Given the description of an element on the screen output the (x, y) to click on. 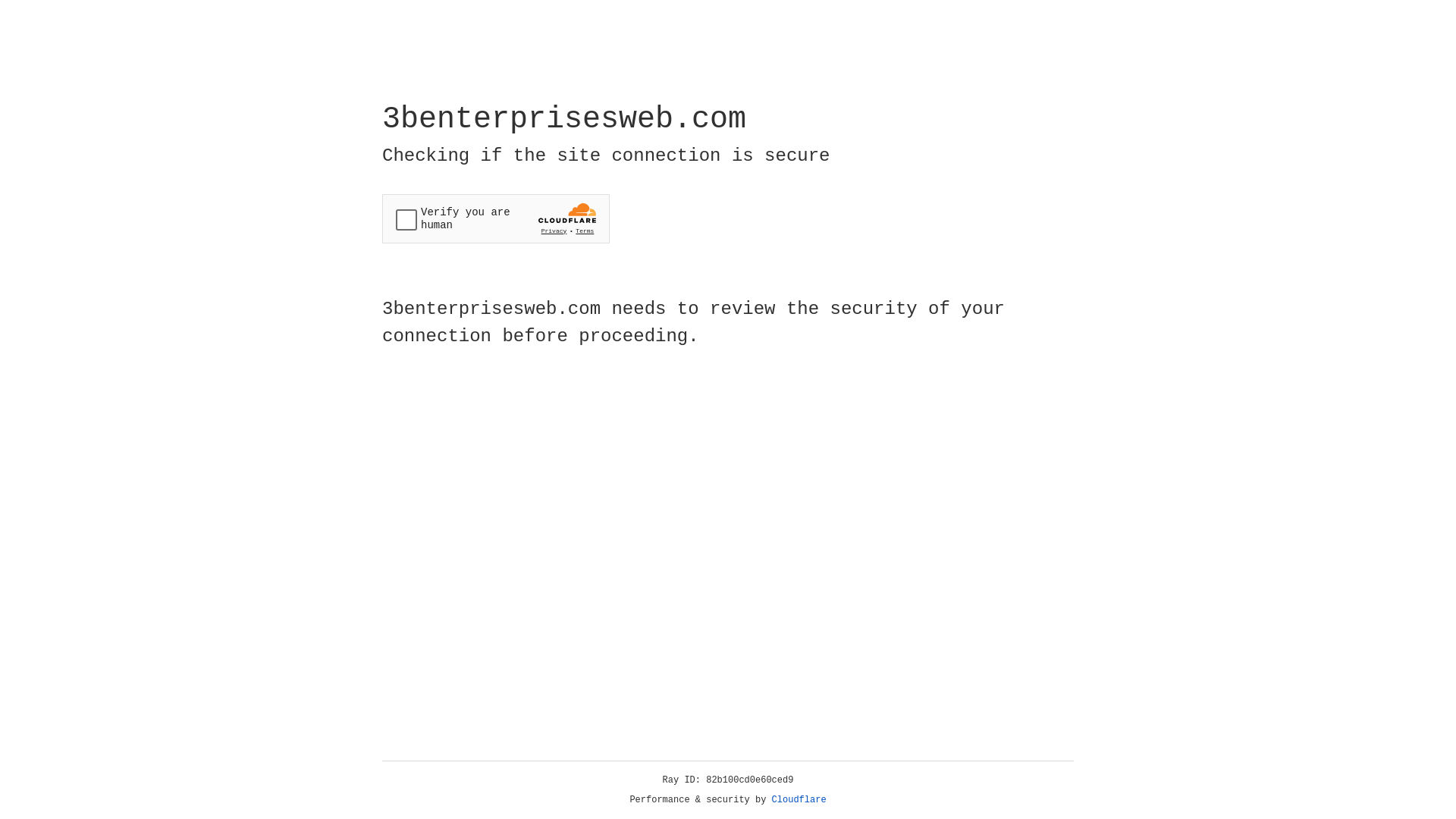
Cloudflare Element type: text (798, 799)
Widget containing a Cloudflare security challenge Element type: hover (495, 218)
